Given the description of an element on the screen output the (x, y) to click on. 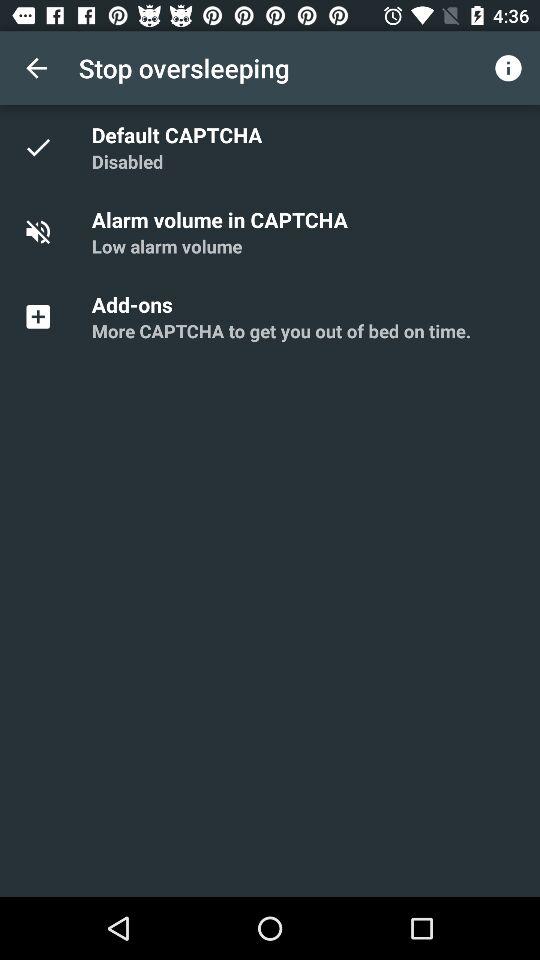
select the tick icon (49, 147)
click on the information button (508, 68)
select the icon which is in the second row (49, 231)
